Given the description of an element on the screen output the (x, y) to click on. 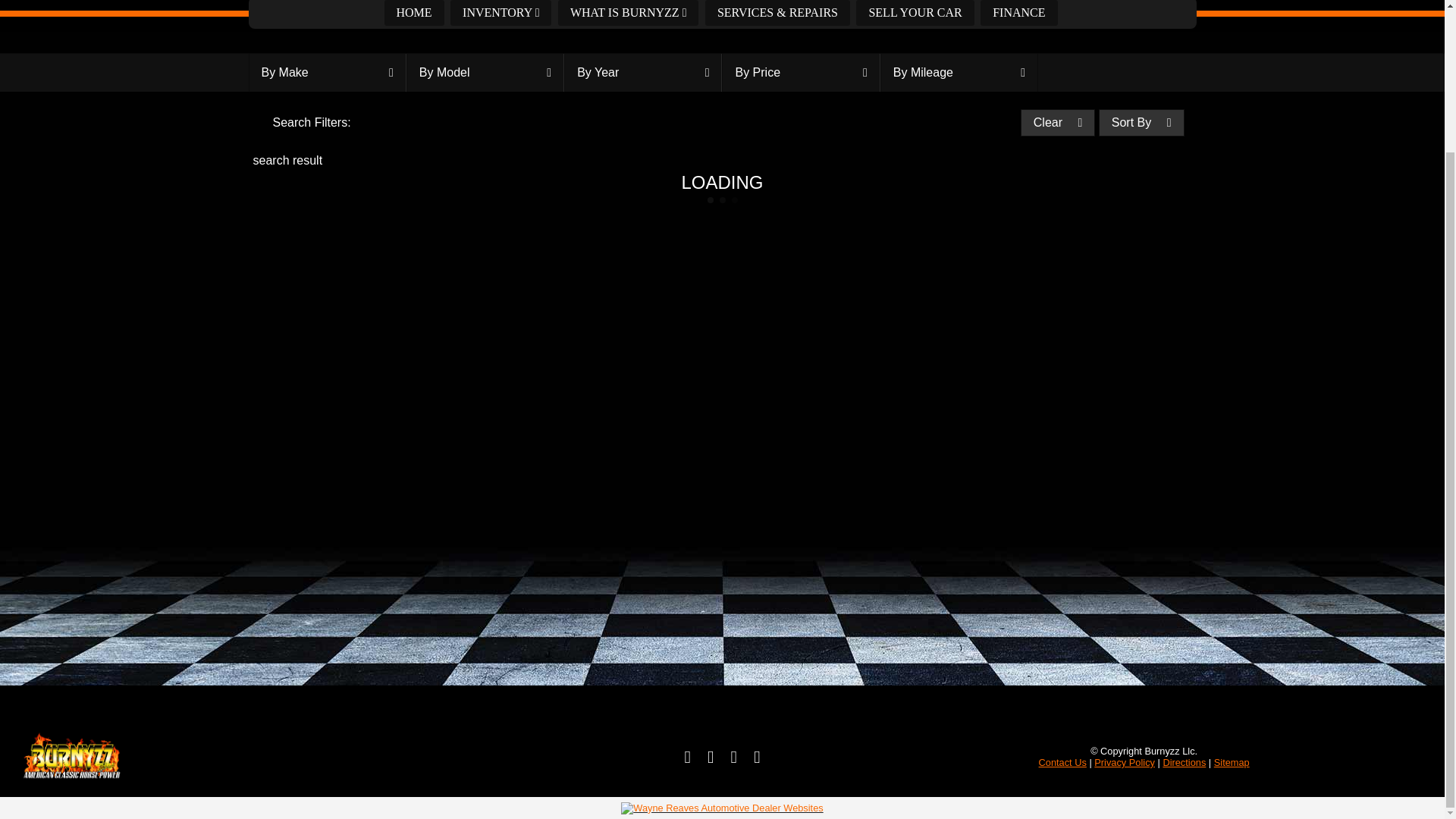
SELL YOUR CAR (916, 11)
Privacy Policy (1124, 762)
FINANCE (1019, 11)
Contact Us (1062, 762)
Wayne Reaves Automotive Dealer Websites (721, 808)
Directions (1183, 762)
HOME (415, 11)
WHAT IS BURNYZZ (628, 11)
INVENTORY (500, 11)
Sitemap (1231, 762)
